Given the description of an element on the screen output the (x, y) to click on. 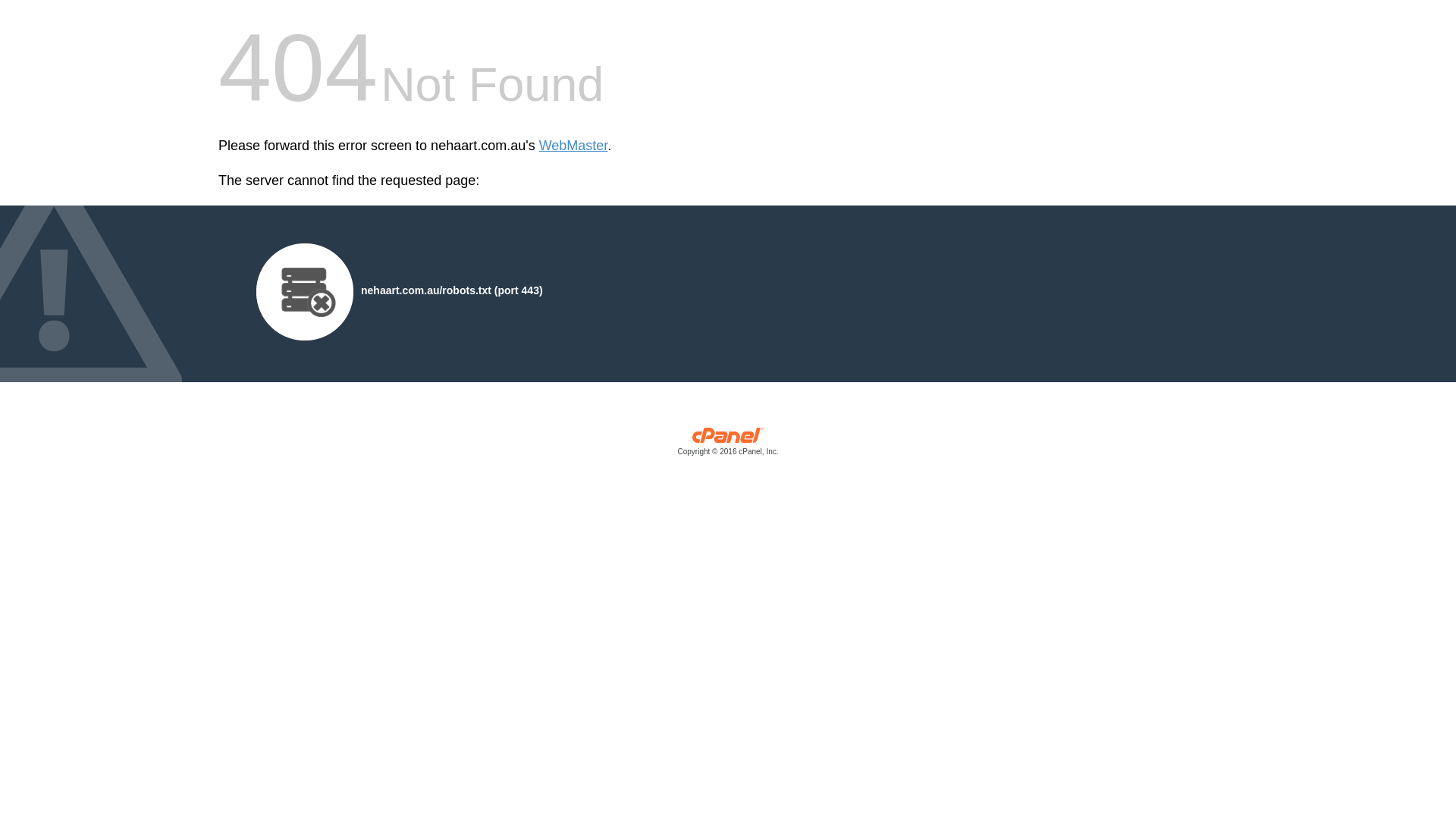
WebMaster Element type: text (573, 145)
